Given the description of an element on the screen output the (x, y) to click on. 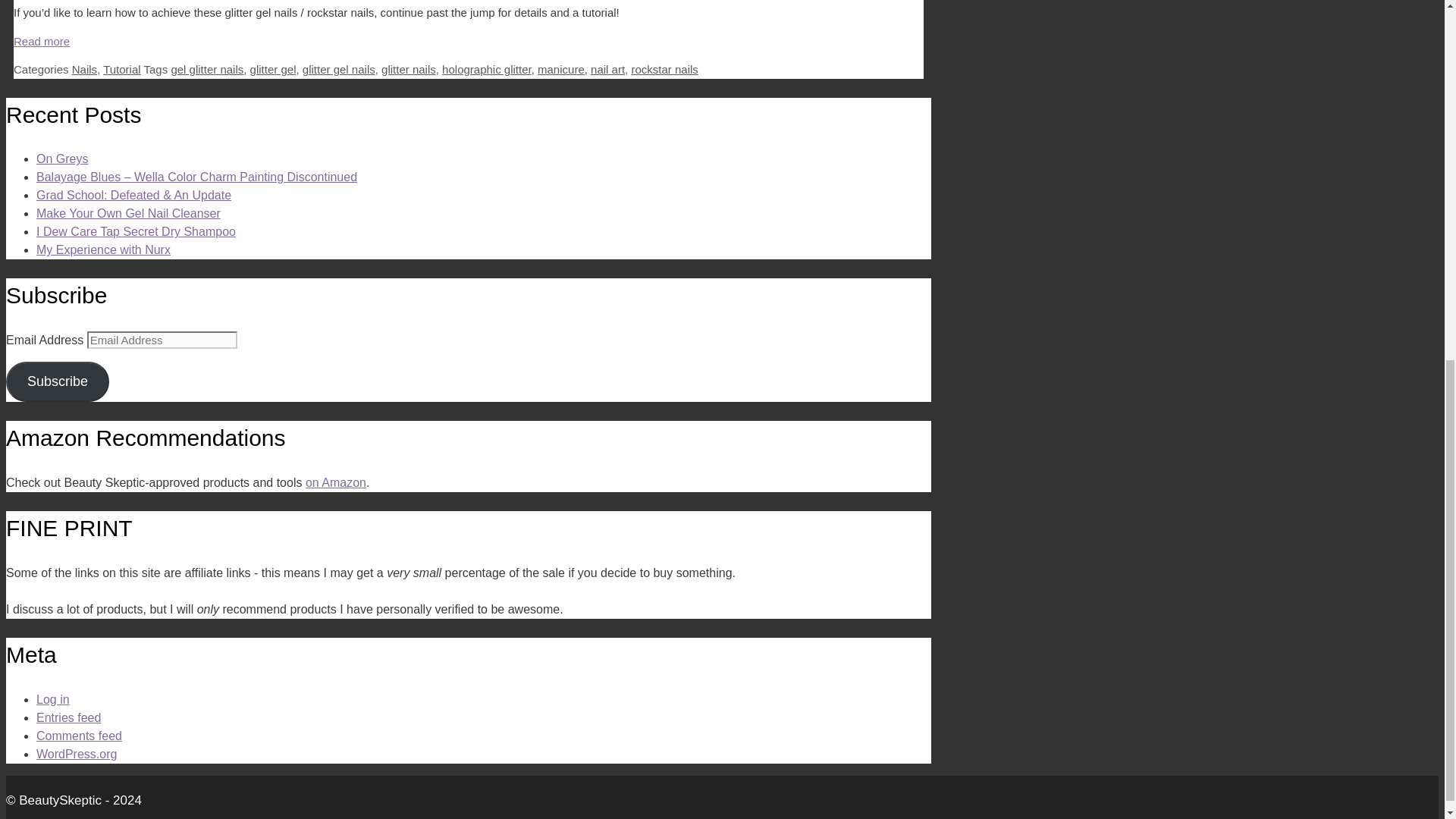
nail art (607, 69)
My Experience with Nurx (103, 249)
Comments feed (79, 735)
glitter nails (408, 69)
Nails (84, 69)
I Dew Care Tap Secret Dry Shampoo (135, 231)
holographic glitter (486, 69)
Subscribe (57, 381)
on Amazon (335, 481)
glitter gel nails (338, 69)
On Greys (61, 158)
Make Your Own Gel Nail Cleanser (128, 213)
manicure (561, 69)
Log in (52, 698)
Entries feed (68, 717)
